Given the description of an element on the screen output the (x, y) to click on. 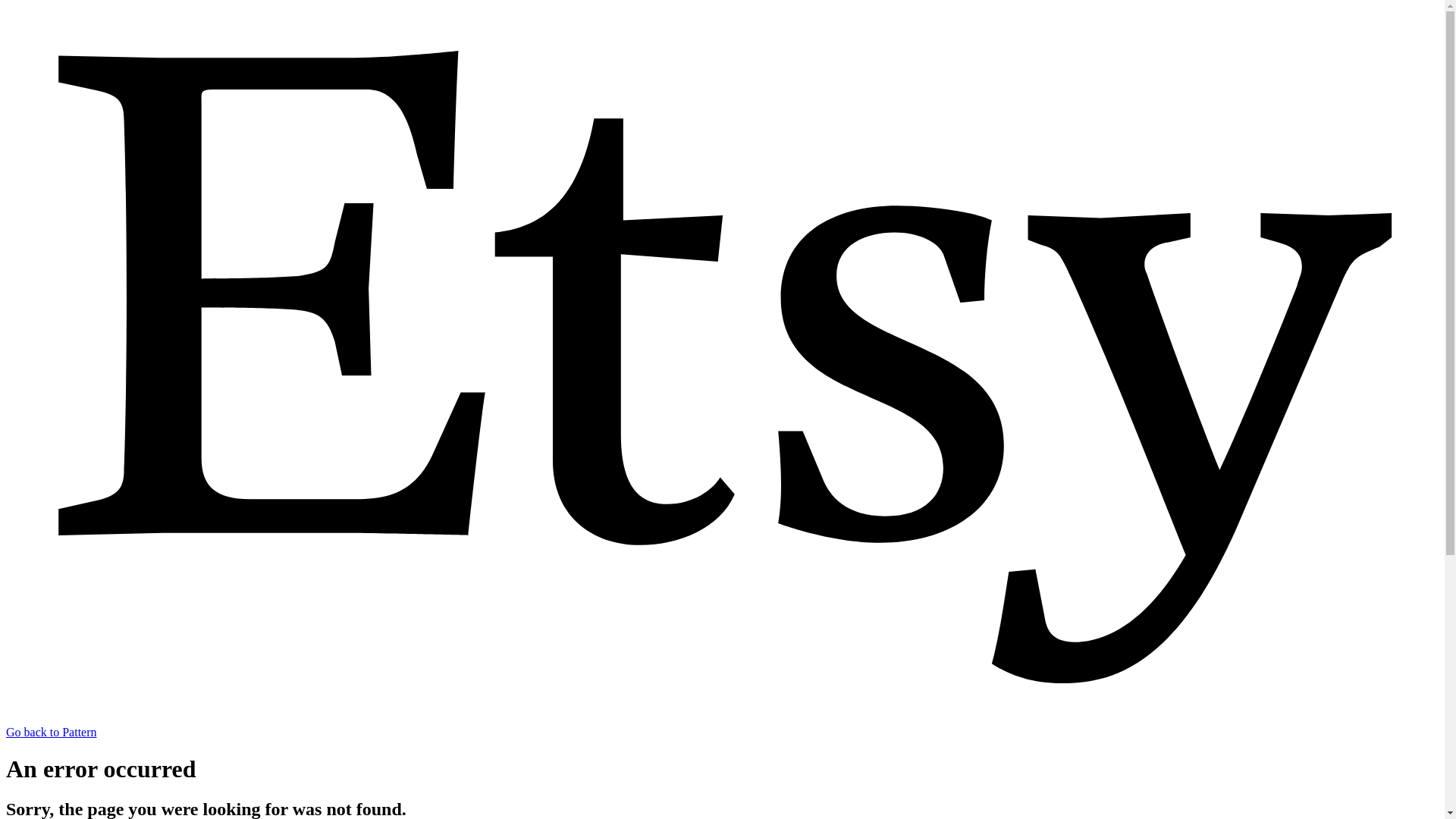
Go back to Pattern Element type: text (722, 724)
